Given the description of an element on the screen output the (x, y) to click on. 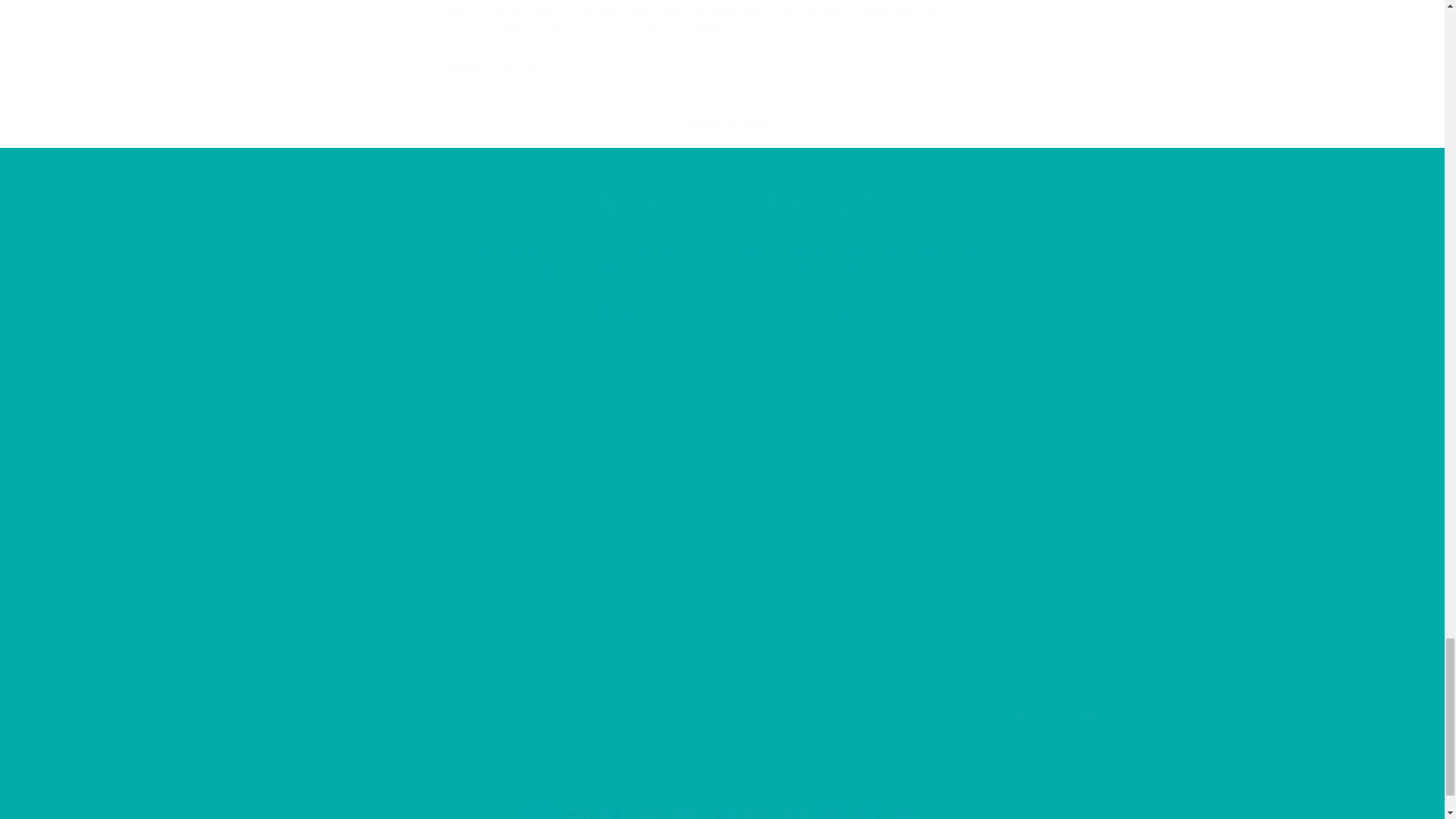
Email (721, 715)
JOIN OUR COMMUNITY (722, 314)
